Given the description of an element on the screen output the (x, y) to click on. 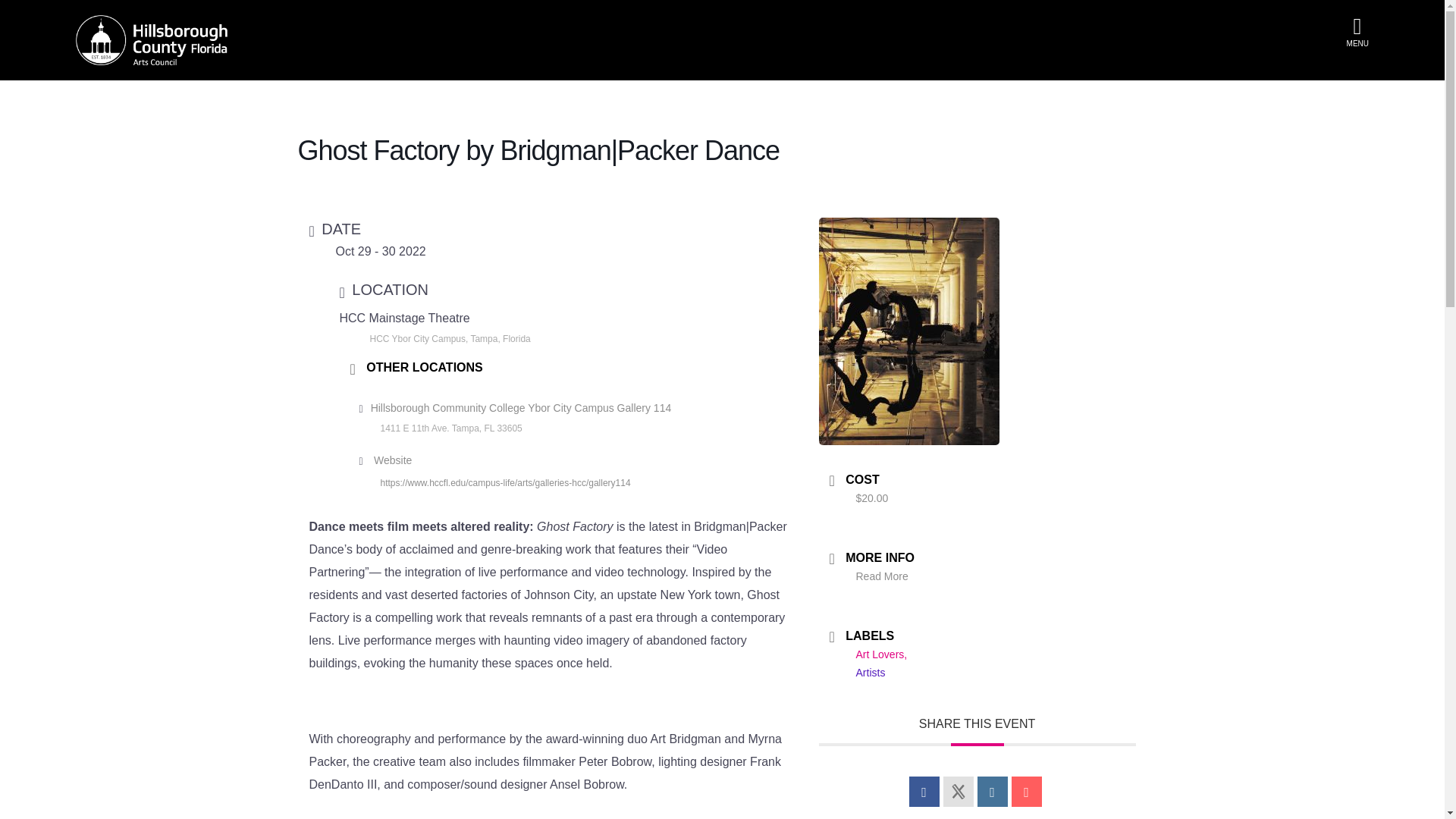
Email (1026, 791)
Read More (881, 576)
Linkedin (991, 791)
X Social Network (958, 791)
Share on Facebook (923, 791)
MENU (1357, 43)
